Given the description of an element on the screen output the (x, y) to click on. 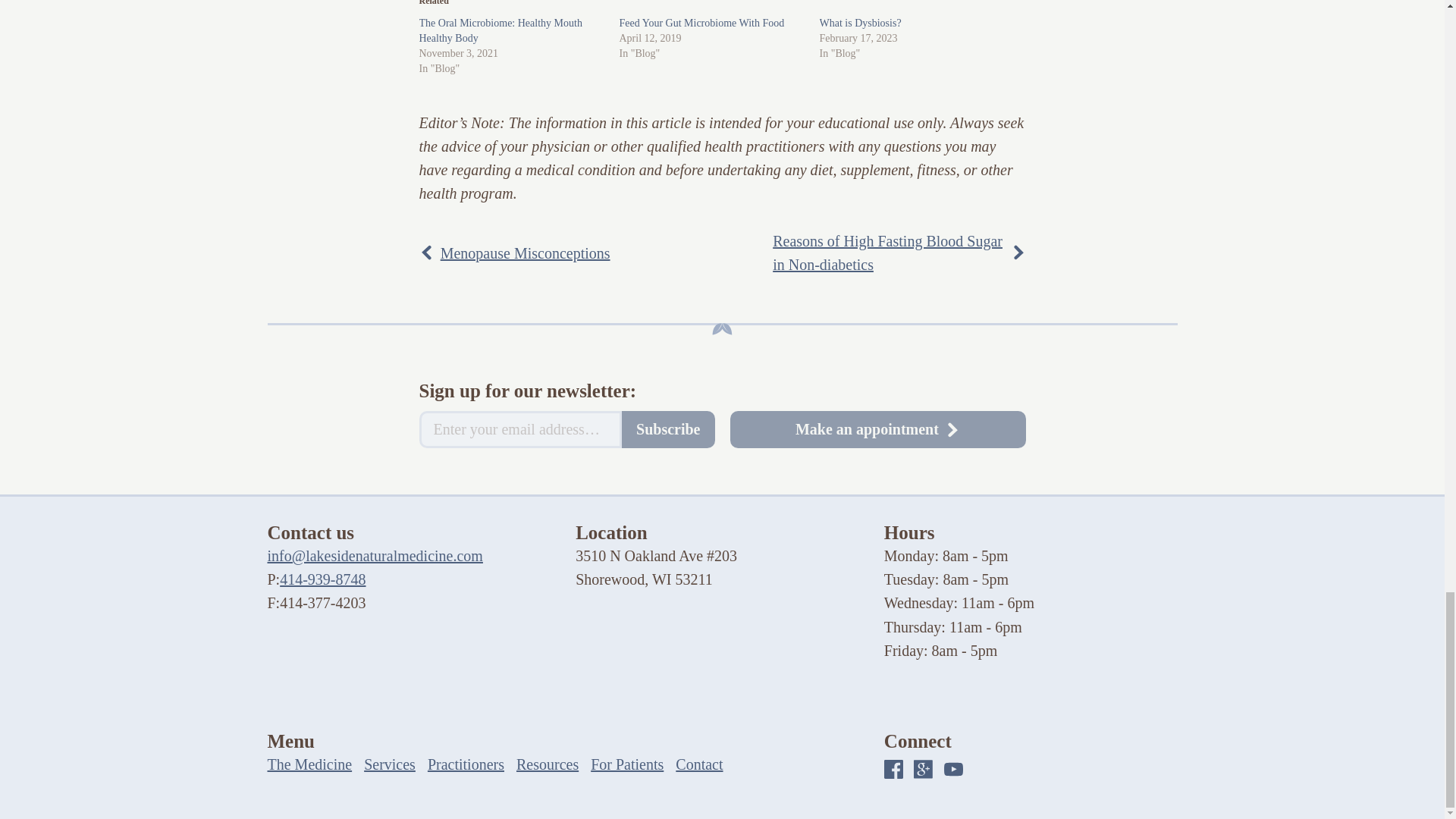
414-939-8748 (322, 579)
The Medicine (309, 764)
Services (389, 764)
Feed Your Gut Microbiome With Food (701, 22)
What is Dysbiosis? (859, 22)
What is Dysbiosis? (859, 22)
Subscribe (667, 429)
Feed Your Gut Microbiome With Food (701, 22)
Resources (547, 764)
For Patients (627, 764)
